Given the description of an element on the screen output the (x, y) to click on. 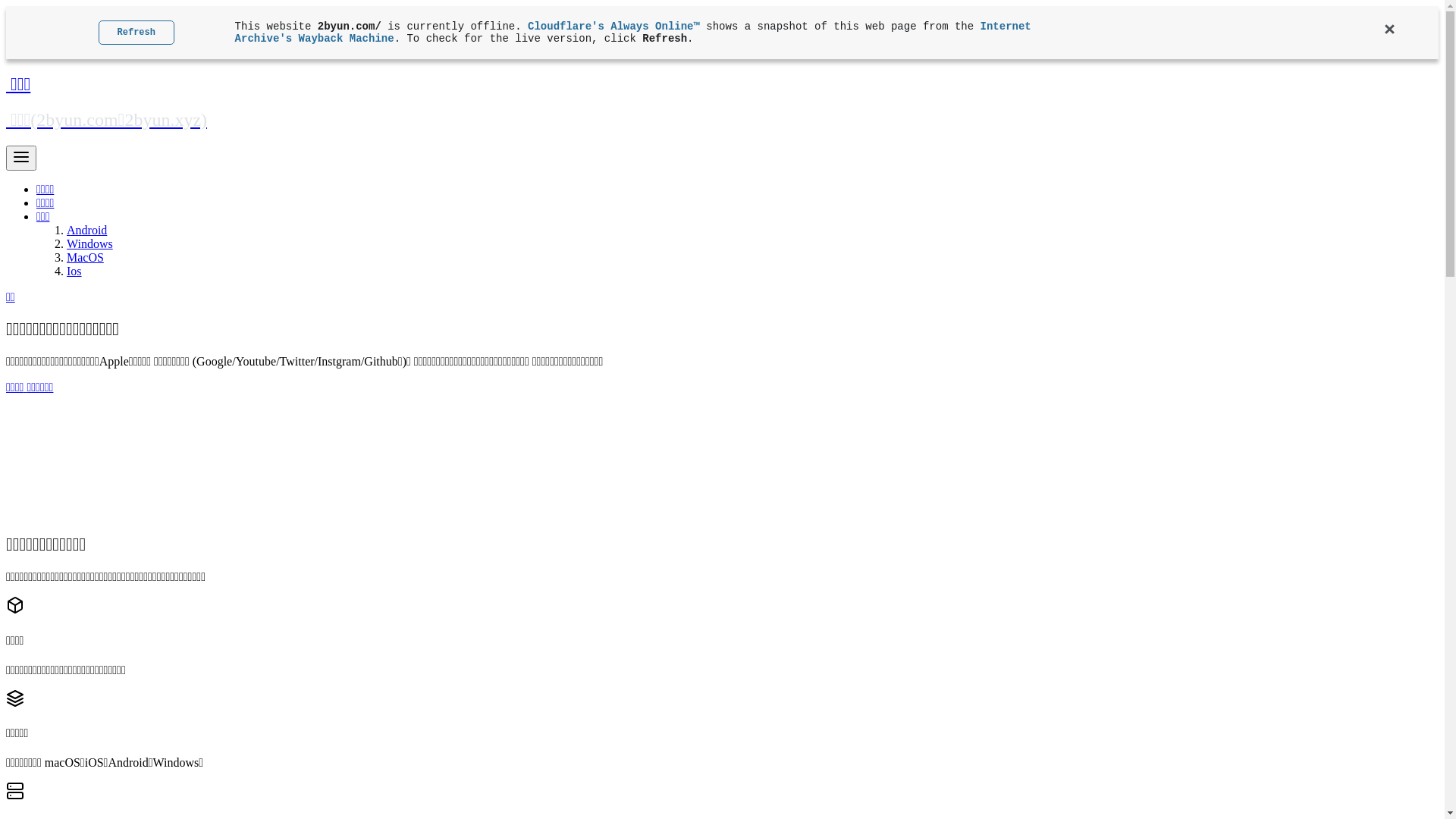
Internet Archive's Wayback Machine Element type: text (633, 32)
Ios Element type: text (73, 270)
Refresh Element type: text (136, 32)
Android Element type: text (86, 229)
MacOS Element type: text (84, 257)
Windows Element type: text (89, 243)
